Given the description of an element on the screen output the (x, y) to click on. 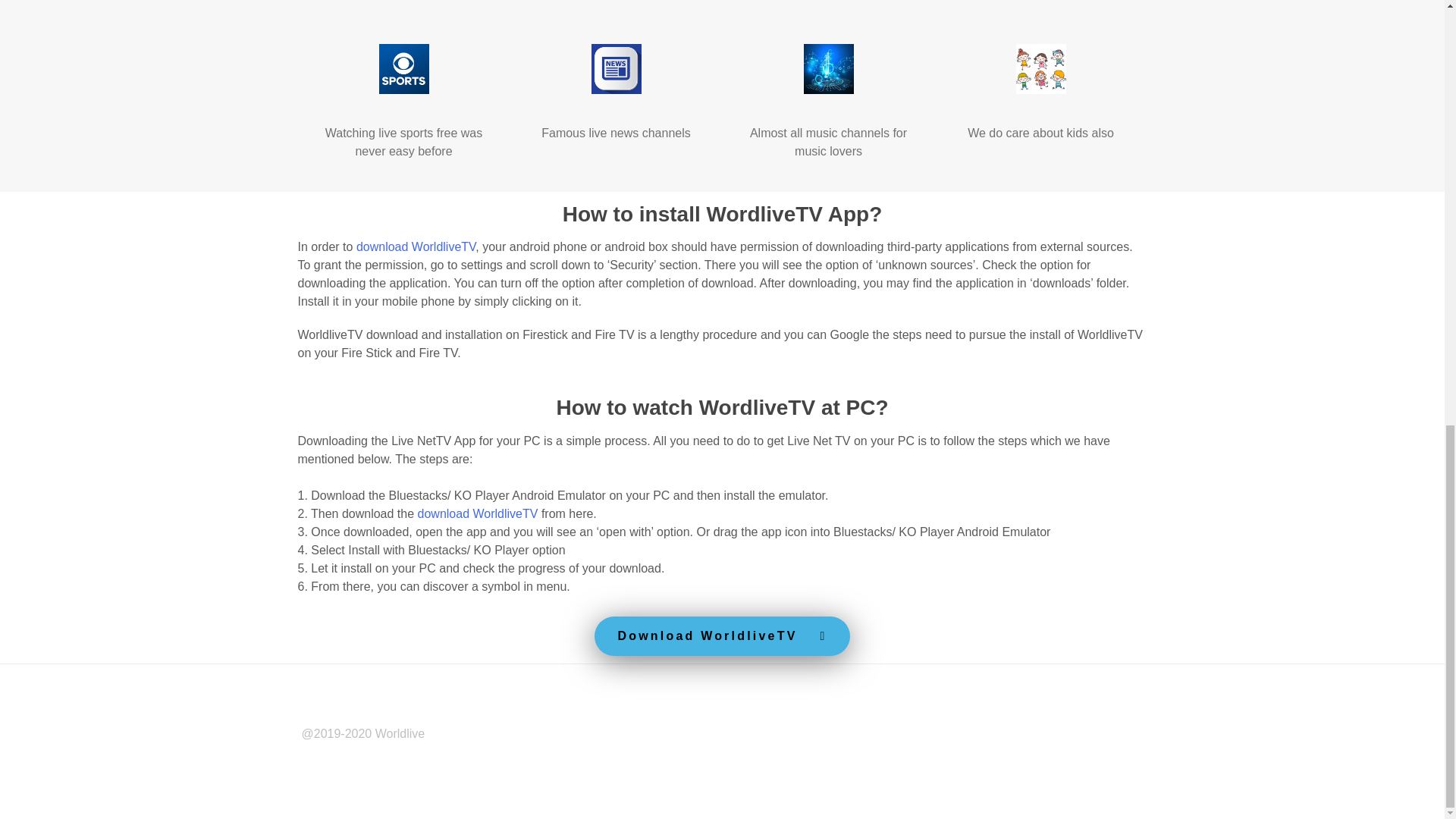
download WorldliveTV (416, 246)
download WorldliveTV (477, 513)
Download WorldliveTV (721, 636)
